Given the description of an element on the screen output the (x, y) to click on. 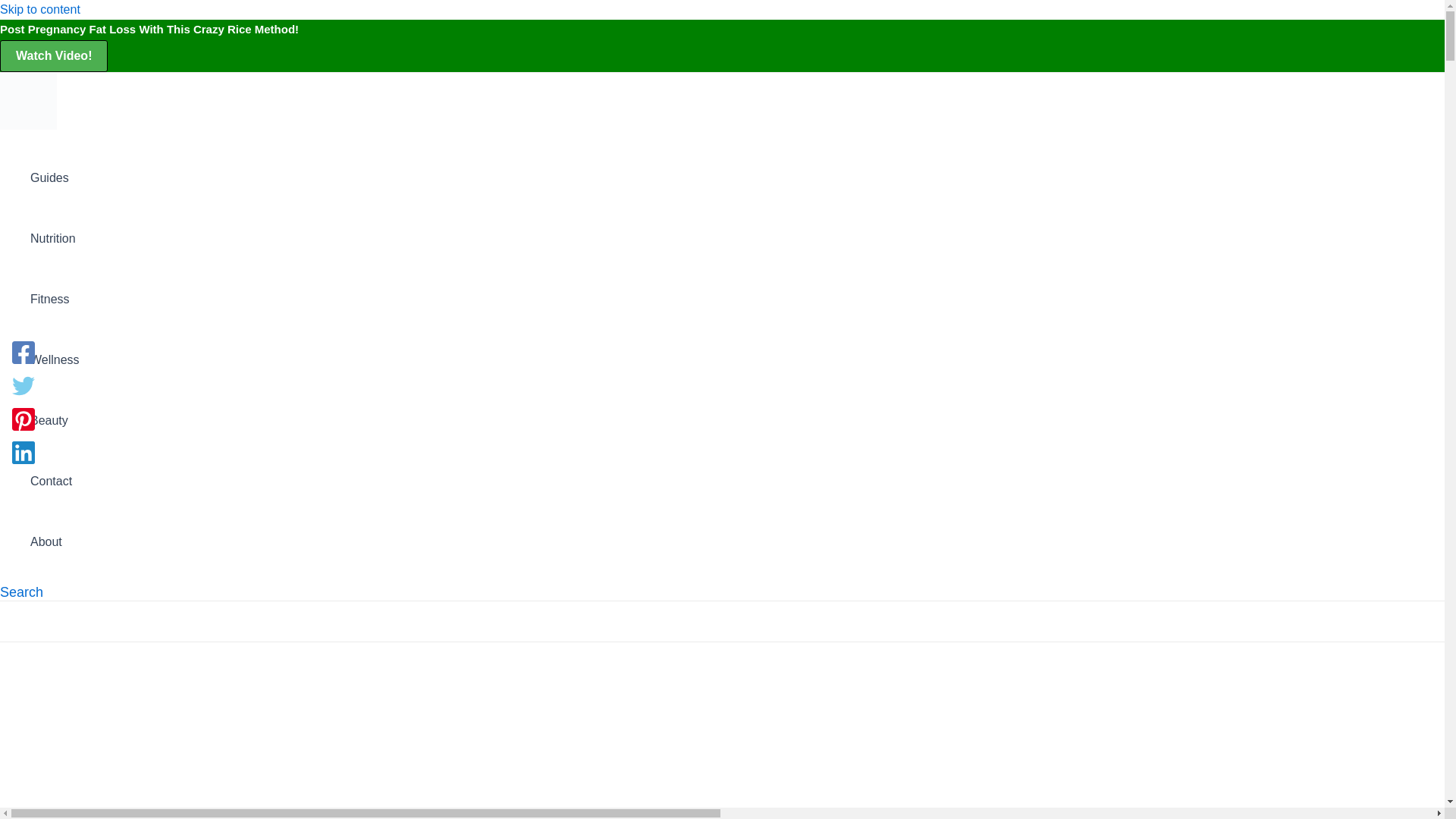
Search (21, 592)
Skip to content (40, 9)
Skip to content (40, 9)
Watch Video! (53, 56)
